Given the description of an element on the screen output the (x, y) to click on. 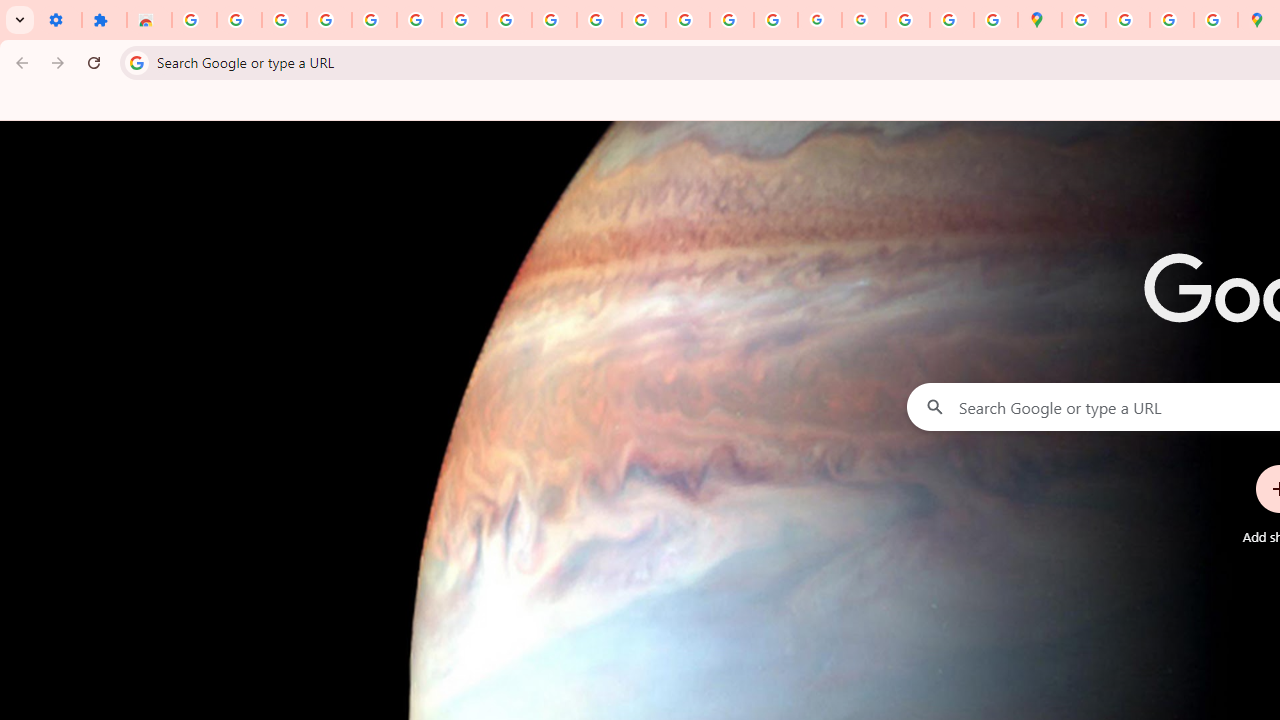
Safety in Our Products - Google Safety Center (1215, 20)
Reviews: Helix Fruit Jump Arcade Game (148, 20)
Sign in - Google Accounts (418, 20)
https://scholar.google.com/ (643, 20)
Google Maps (1039, 20)
Delete photos & videos - Computer - Google Photos Help (284, 20)
Google Account (509, 20)
